Given the description of an element on the screen output the (x, y) to click on. 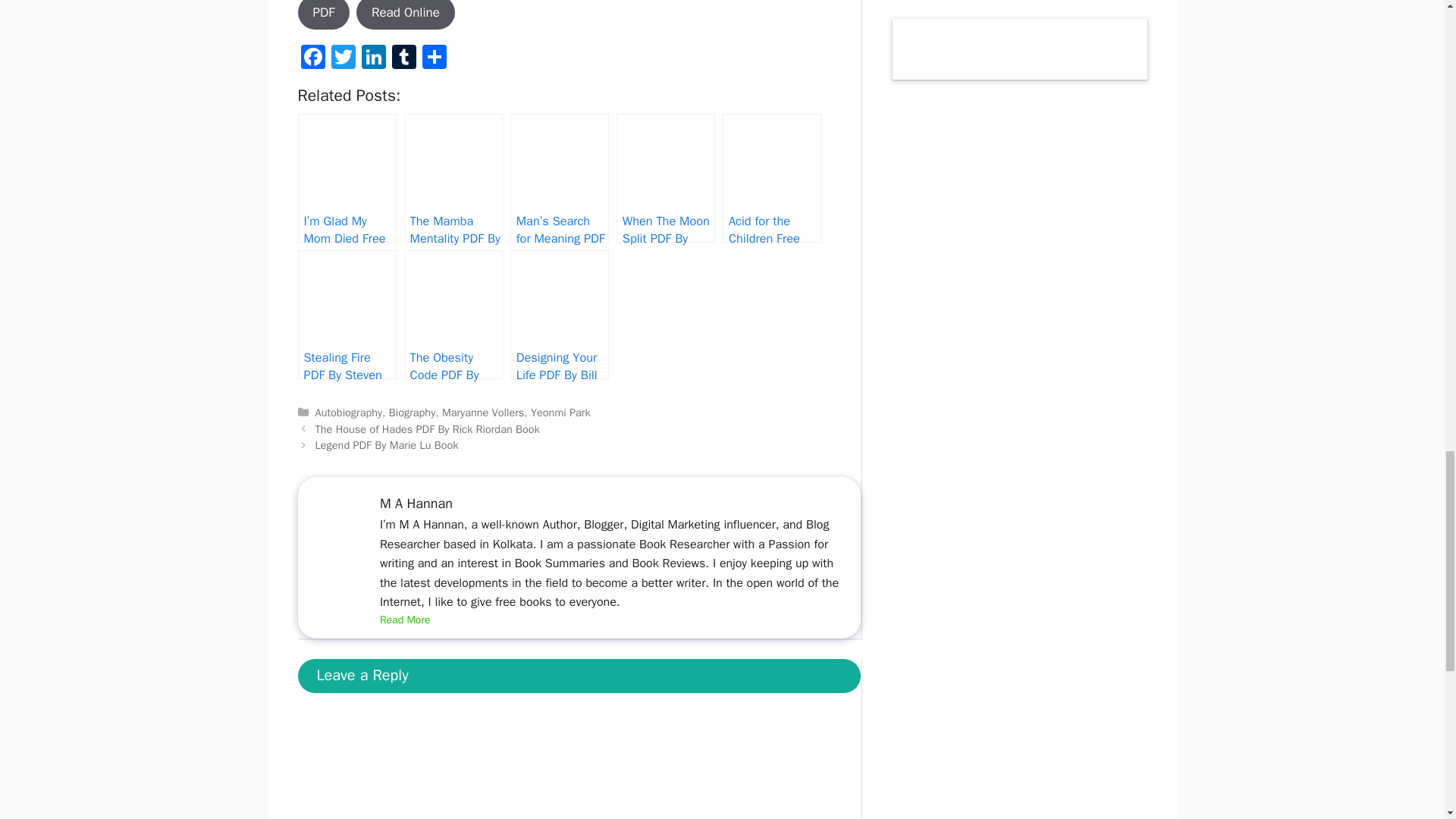
Twitter (342, 59)
Facebook (312, 59)
Biography (411, 412)
Maryanne Vollers (483, 412)
Facebook (312, 59)
Read Online (405, 15)
PDF (323, 15)
LinkedIn (373, 59)
Autobiography (348, 412)
Yeonmi Park (561, 412)
Share (433, 59)
Twitter (342, 59)
Tumblr (403, 59)
